Given the description of an element on the screen output the (x, y) to click on. 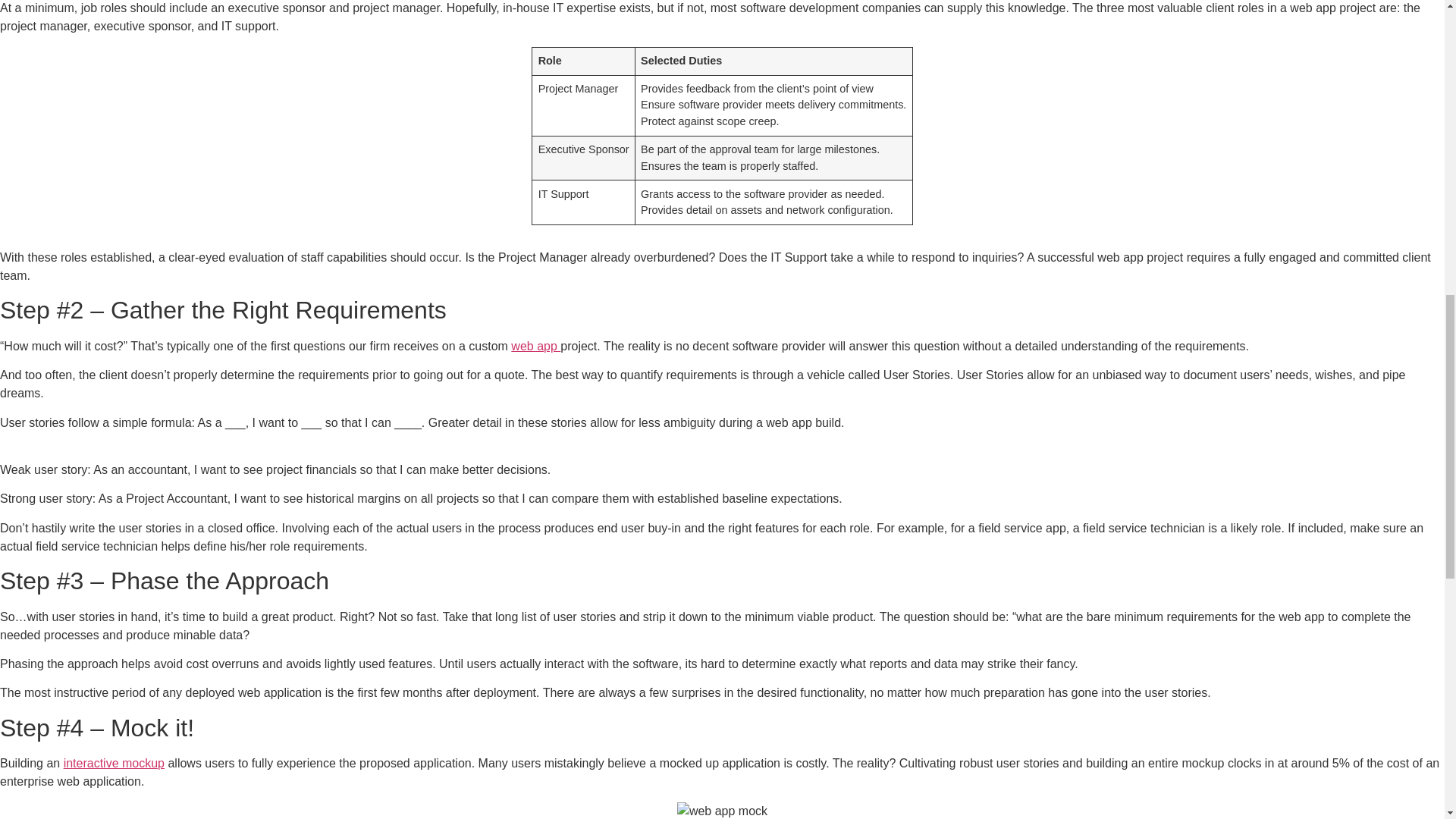
web app (535, 345)
interactive mockup (114, 762)
